Given the description of an element on the screen output the (x, y) to click on. 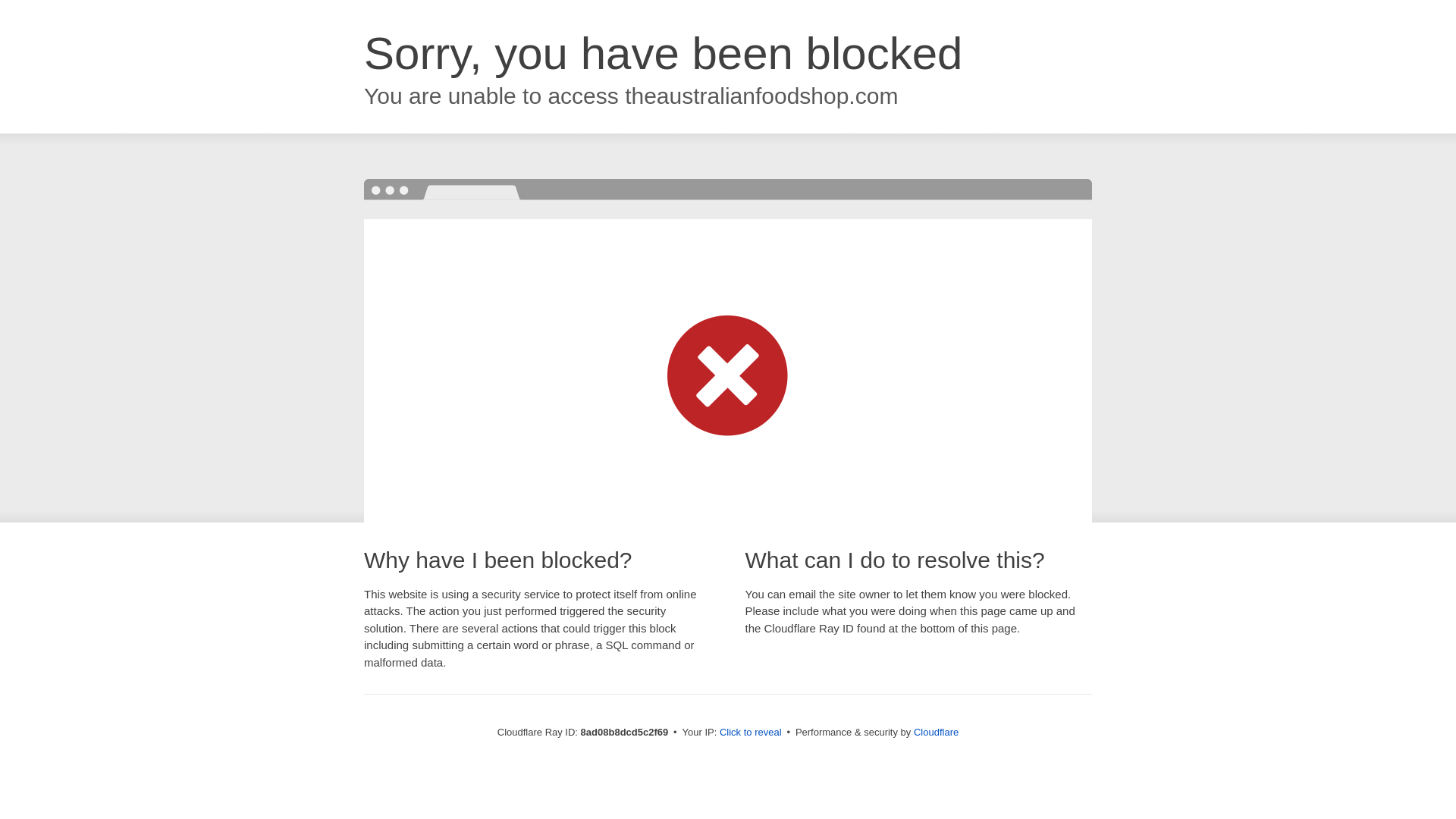
Cloudflare (936, 731)
Click to reveal (750, 732)
